Given the description of an element on the screen output the (x, y) to click on. 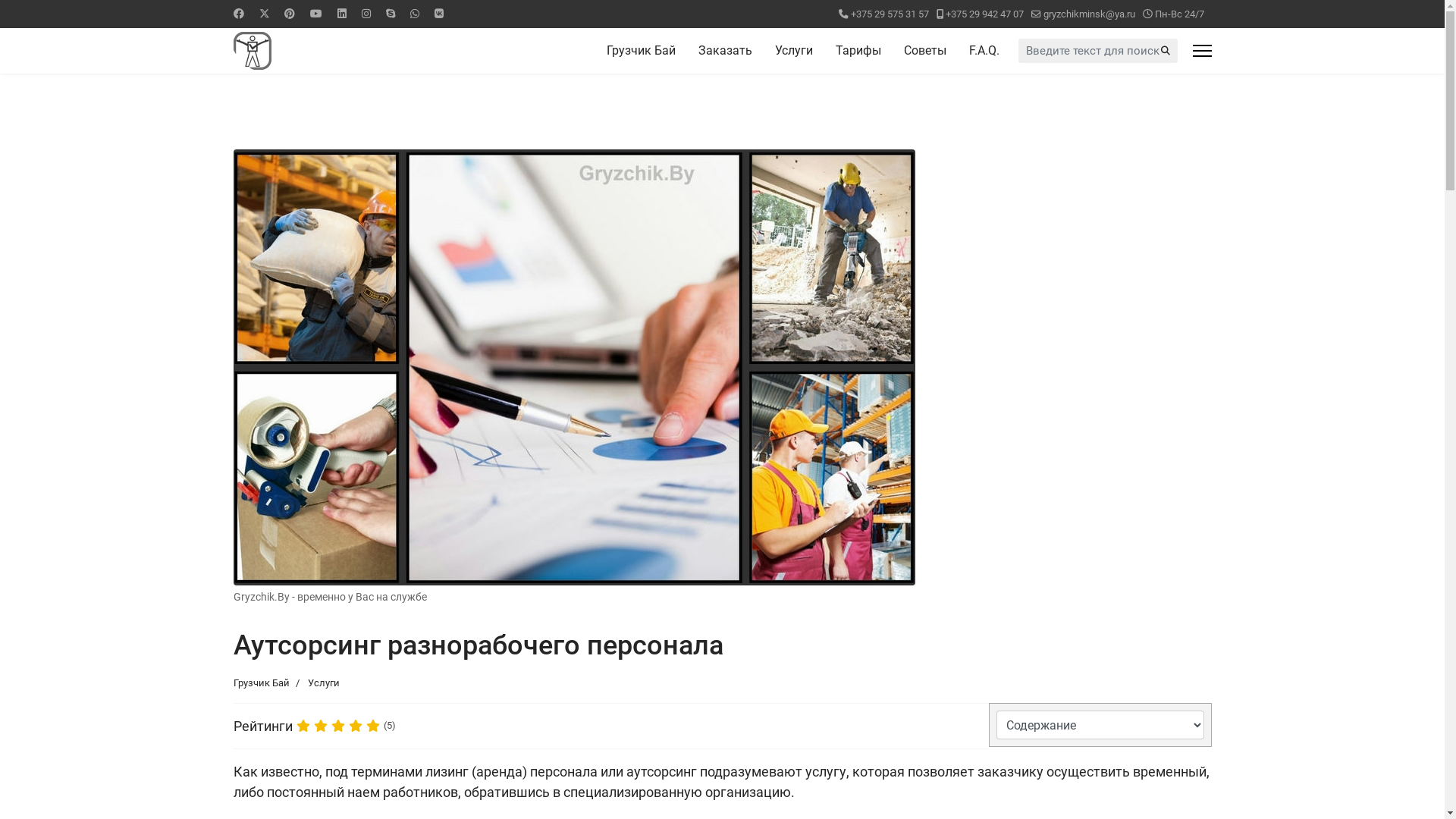
F.A.Q. Element type: text (977, 50)
gryzchikminsk@ya.ru Element type: text (1089, 13)
+375 29 942 47 07 Element type: text (983, 13)
+375 29 575 31 57 Element type: text (889, 13)
